Given the description of an element on the screen output the (x, y) to click on. 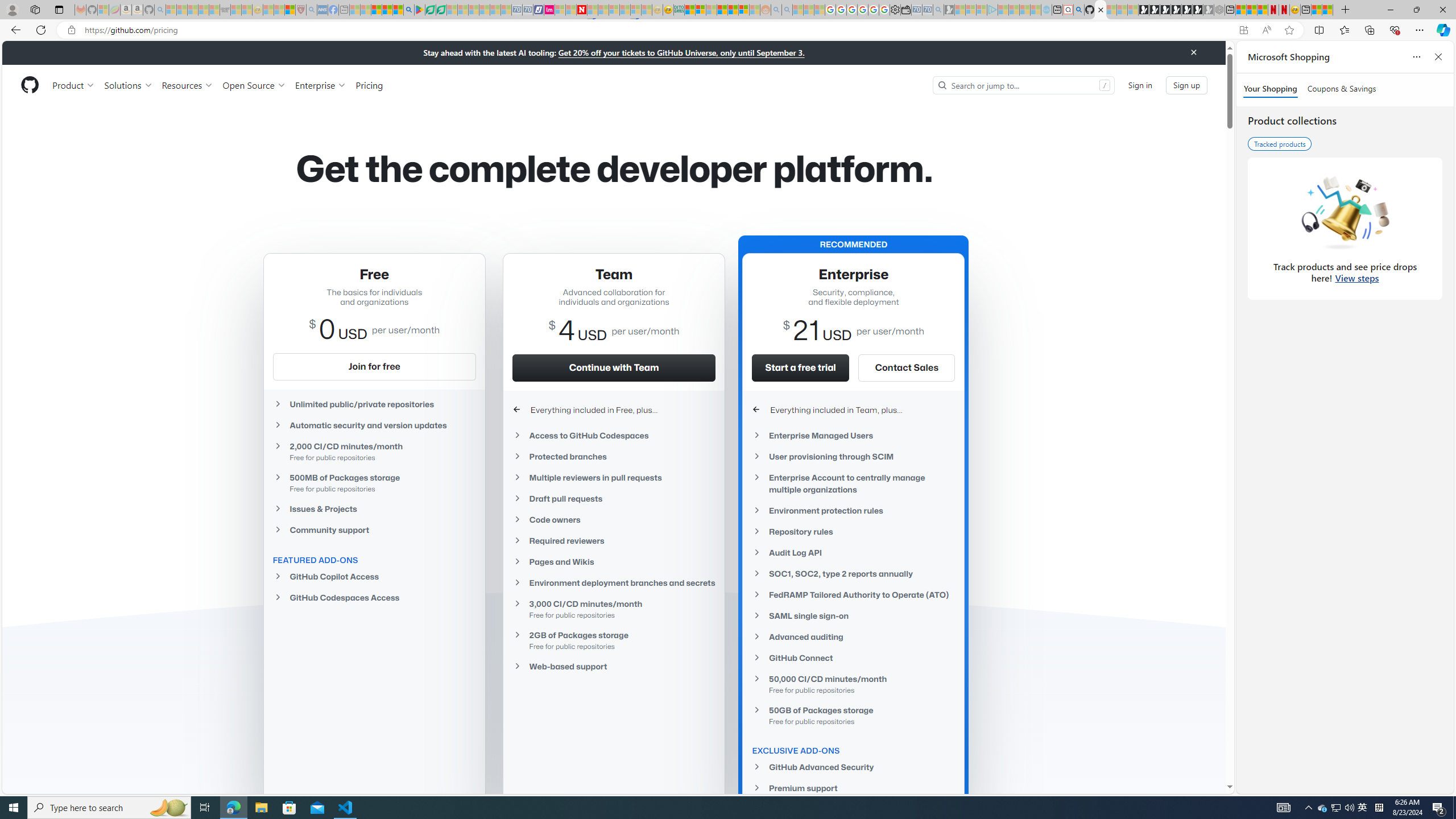
Environment deployment branches and secrets (614, 582)
GitHub Connect (853, 658)
Required reviewers (614, 540)
Code owners (614, 519)
Join for free (374, 366)
Enterprise Managed Users (853, 435)
Pricing (368, 84)
